Given the description of an element on the screen output the (x, y) to click on. 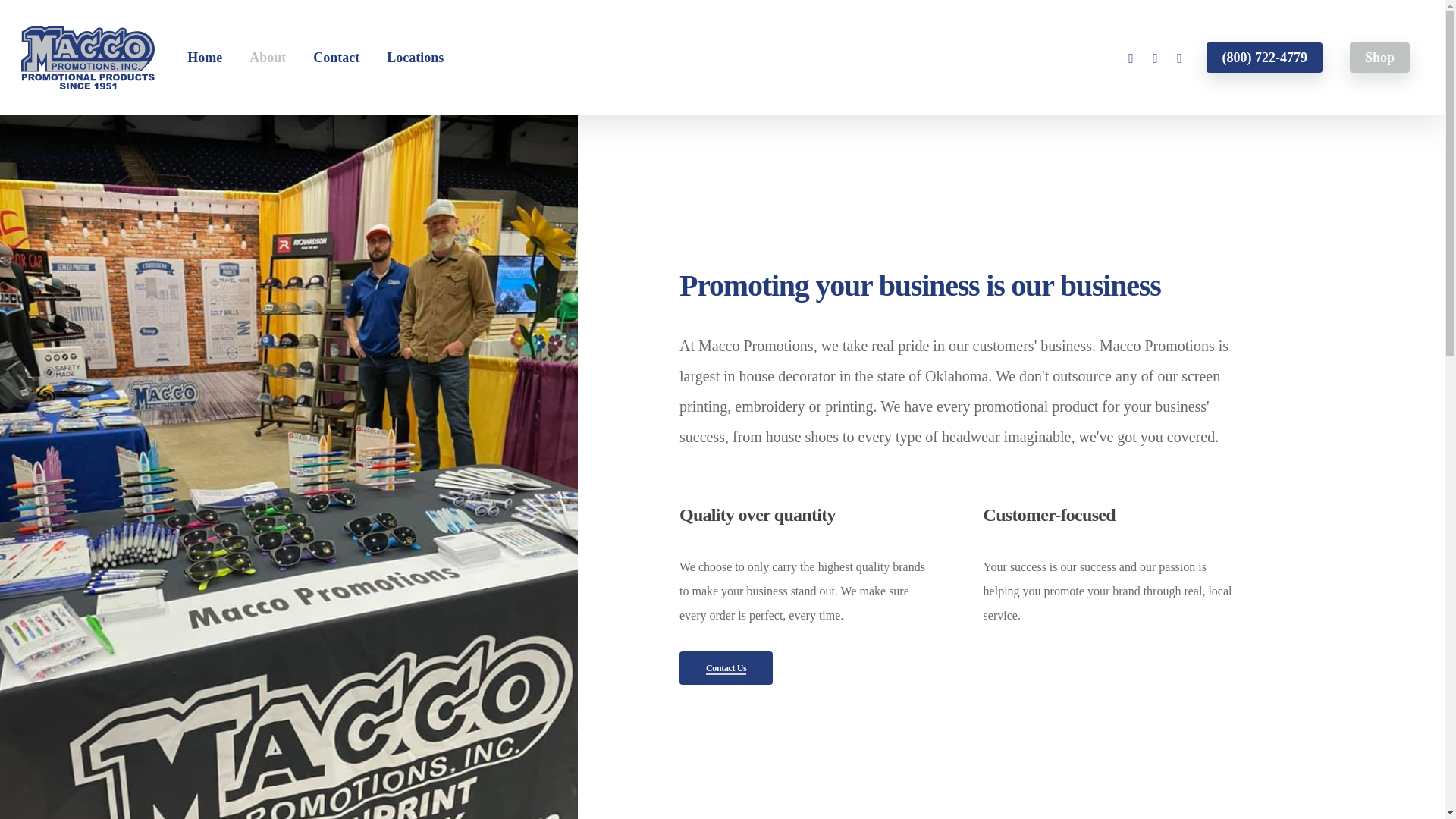
About (267, 57)
Contact (335, 57)
Locations (414, 57)
instagram (1179, 57)
Shop (1379, 57)
twitter (1130, 57)
facebook (1155, 57)
Home (204, 57)
Contact Us (725, 667)
